Given the description of an element on the screen output the (x, y) to click on. 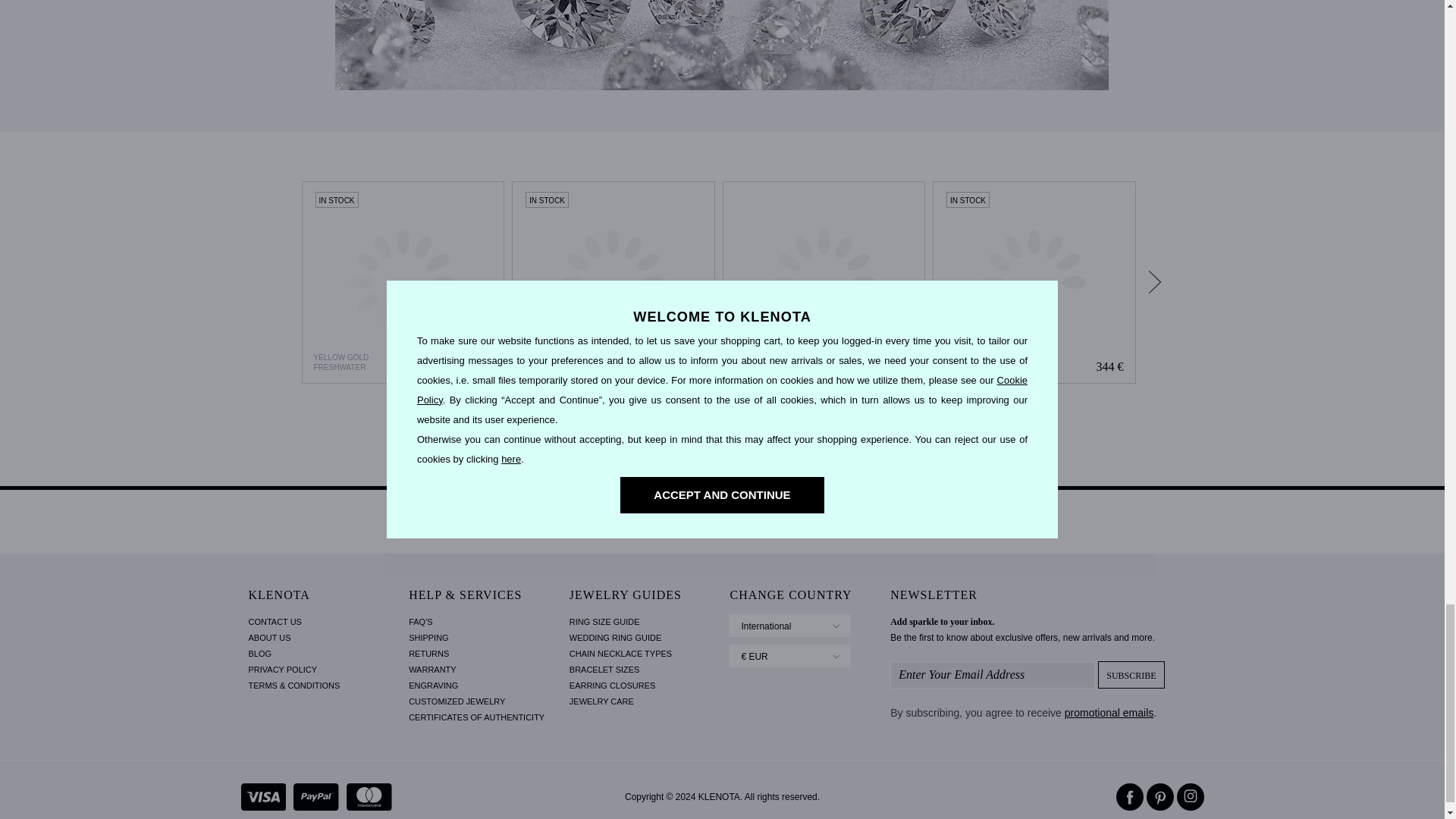
Pearl Earrings in Yellow Gold (613, 282)
Pearl Earrings with Brilliants in Rose Gold (823, 282)
Freshwater Pearl Stud Earrings (1034, 282)
Facebook (1129, 796)
Pearl Earrings with Brilliants in Rose Gold (823, 282)
Gold Earrings with Pearls (403, 282)
Pinterest (1160, 796)
Gold Earrings with Pearls (402, 282)
Freshwater Pearl Stud Earrings (1034, 282)
Instagram (1190, 796)
Pearl Earrings in Yellow Gold (613, 282)
